Given the description of an element on the screen output the (x, y) to click on. 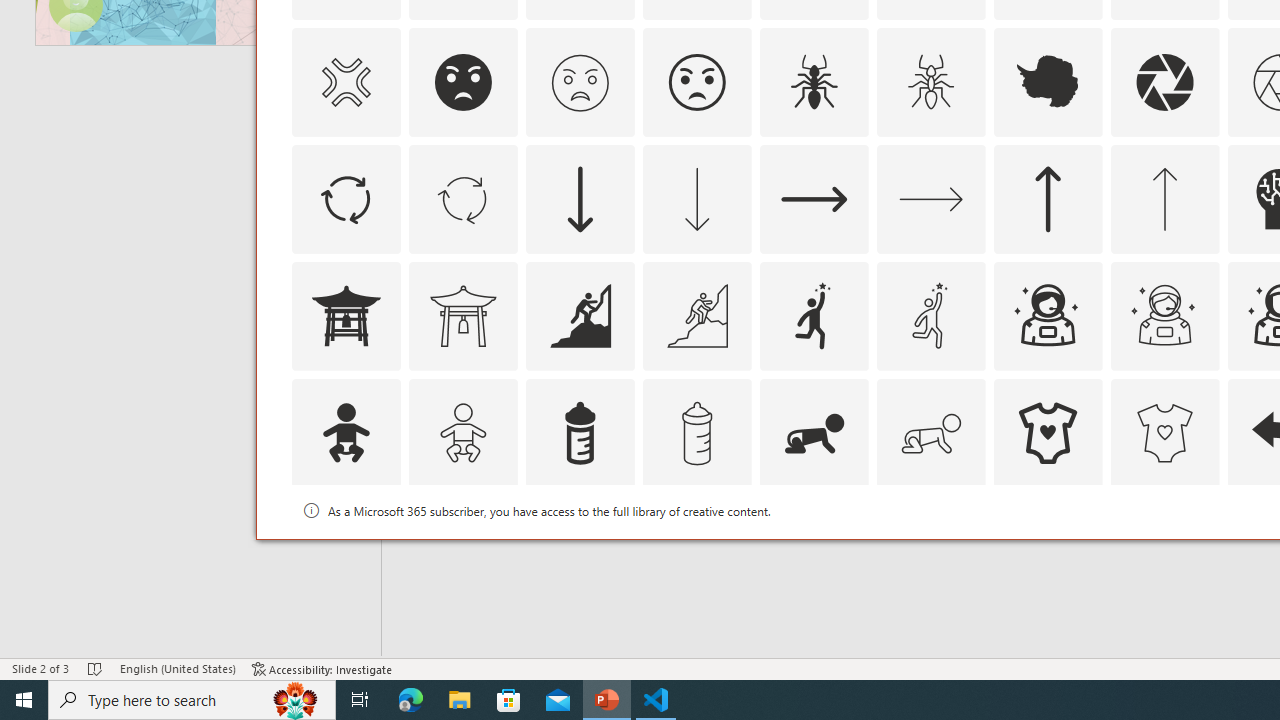
AutomationID: Icons_BabyCrawling (813, 432)
AutomationID: Icons_Ant (813, 82)
AutomationID: Icons_BabyOnesie_M (1164, 432)
AutomationID: Icons (1048, 550)
AutomationID: Icons_BabyCrawling_M (930, 432)
AutomationID: Icons_ArrowRight (813, 198)
AutomationID: Icons_AsianTemple1 (345, 316)
AutomationID: Icons_ArrowDown_M (696, 198)
